Given the description of an element on the screen output the (x, y) to click on. 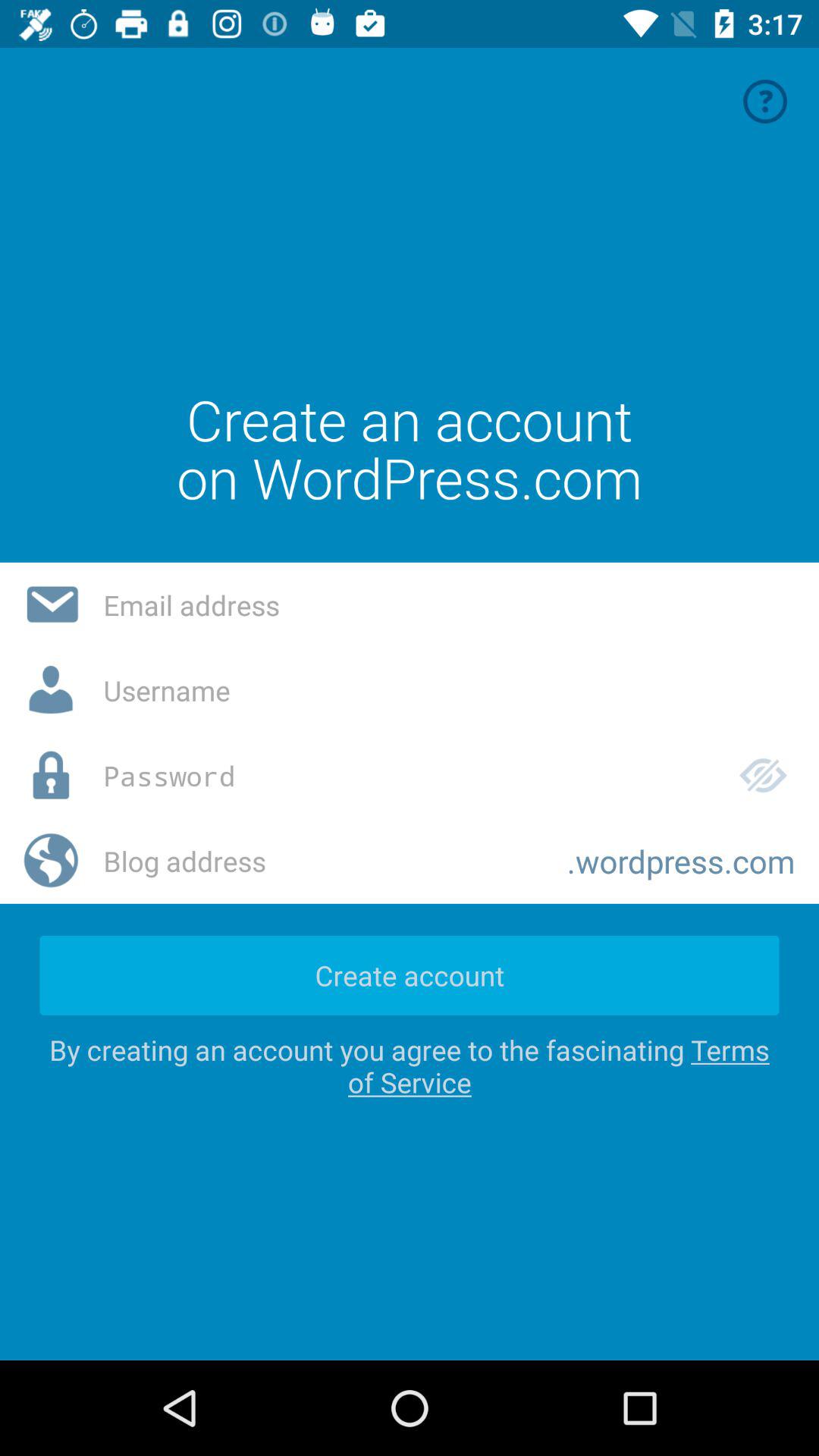
enter email address (449, 604)
